Given the description of an element on the screen output the (x, y) to click on. 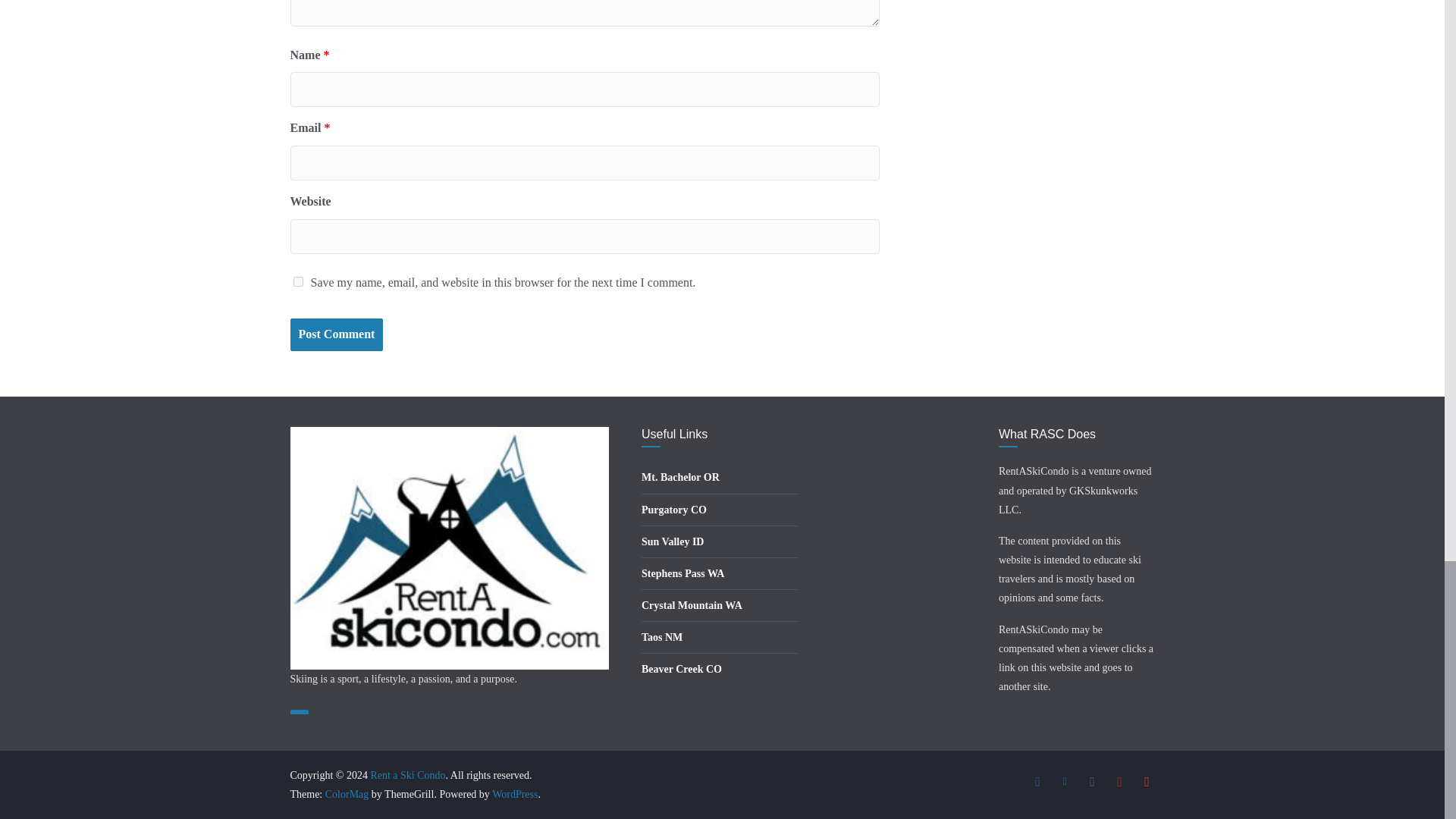
yes (297, 281)
Post Comment (335, 334)
